Given the description of an element on the screen output the (x, y) to click on. 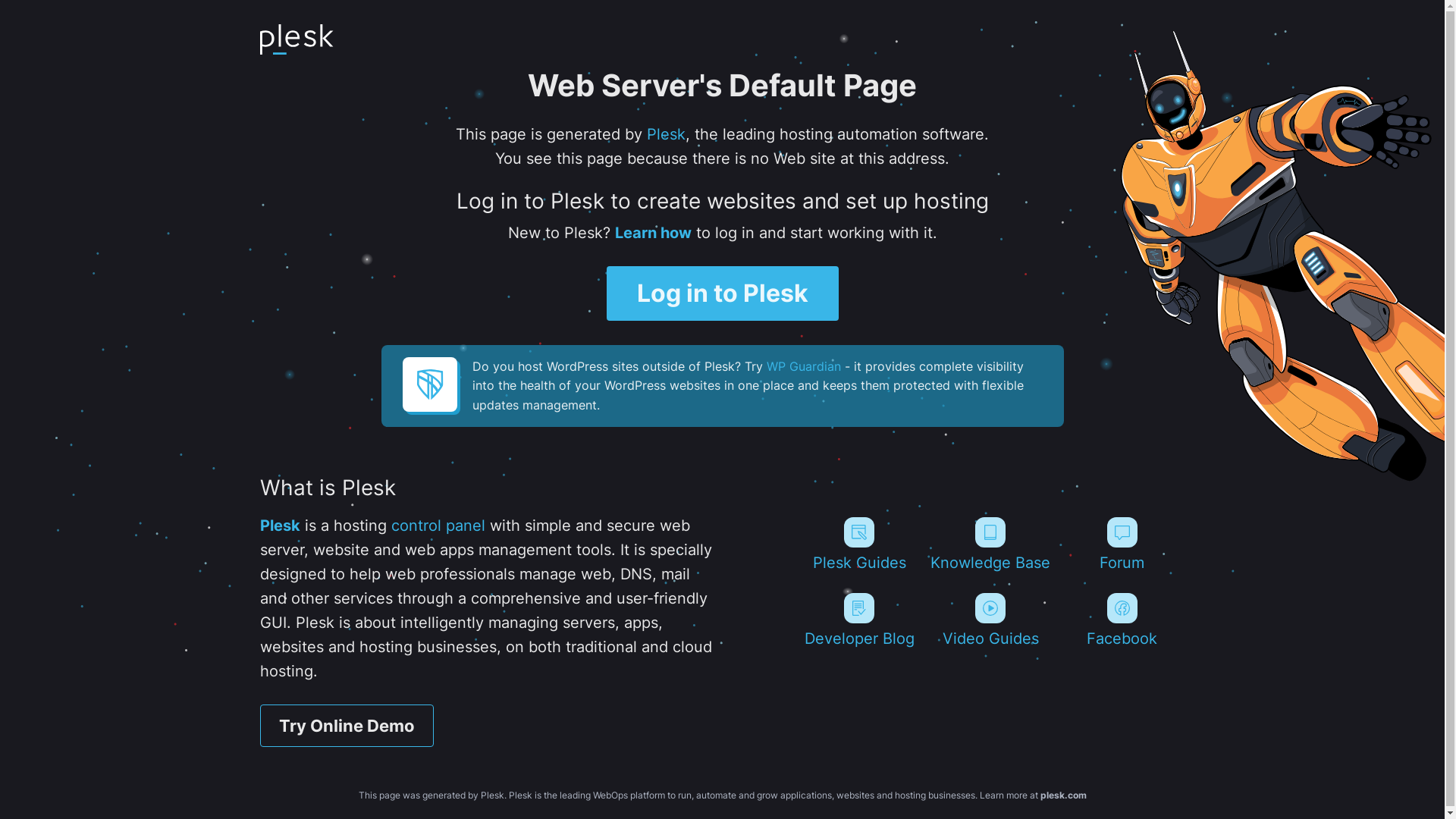
Plesk Element type: text (665, 134)
Plesk Element type: text (279, 525)
Video Guides Element type: text (990, 620)
Plesk Guides Element type: text (858, 544)
Developer Blog Element type: text (858, 620)
Try Online Demo Element type: text (346, 725)
control panel Element type: text (438, 525)
plesk.com Element type: text (1063, 794)
Facebook Element type: text (1121, 620)
Learn how Element type: text (652, 232)
Knowledge Base Element type: text (990, 544)
WP Guardian Element type: text (802, 365)
Forum Element type: text (1121, 544)
Log in to Plesk Element type: text (722, 293)
